Given the description of an element on the screen output the (x, y) to click on. 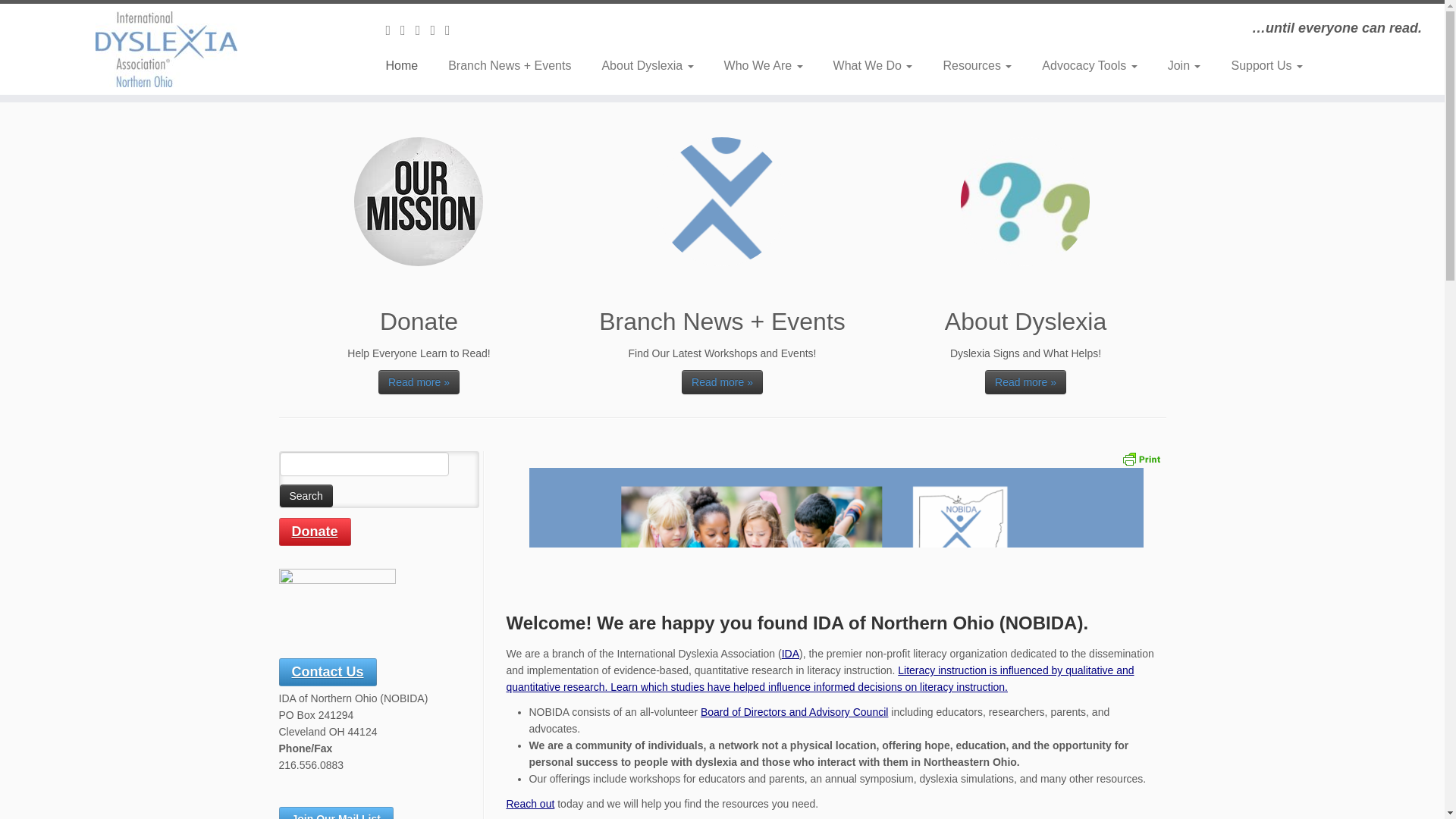
What We Do (873, 65)
Search (305, 495)
Follow us on Twitter (392, 29)
Home (406, 65)
Who We Are (763, 65)
Follow us on Instagram (422, 29)
Follow us on Facebook (407, 29)
Follow me on Youtube (437, 29)
Resources (976, 65)
Follow me on LinkedIn (452, 29)
About Dyslexia (646, 65)
